Given the description of an element on the screen output the (x, y) to click on. 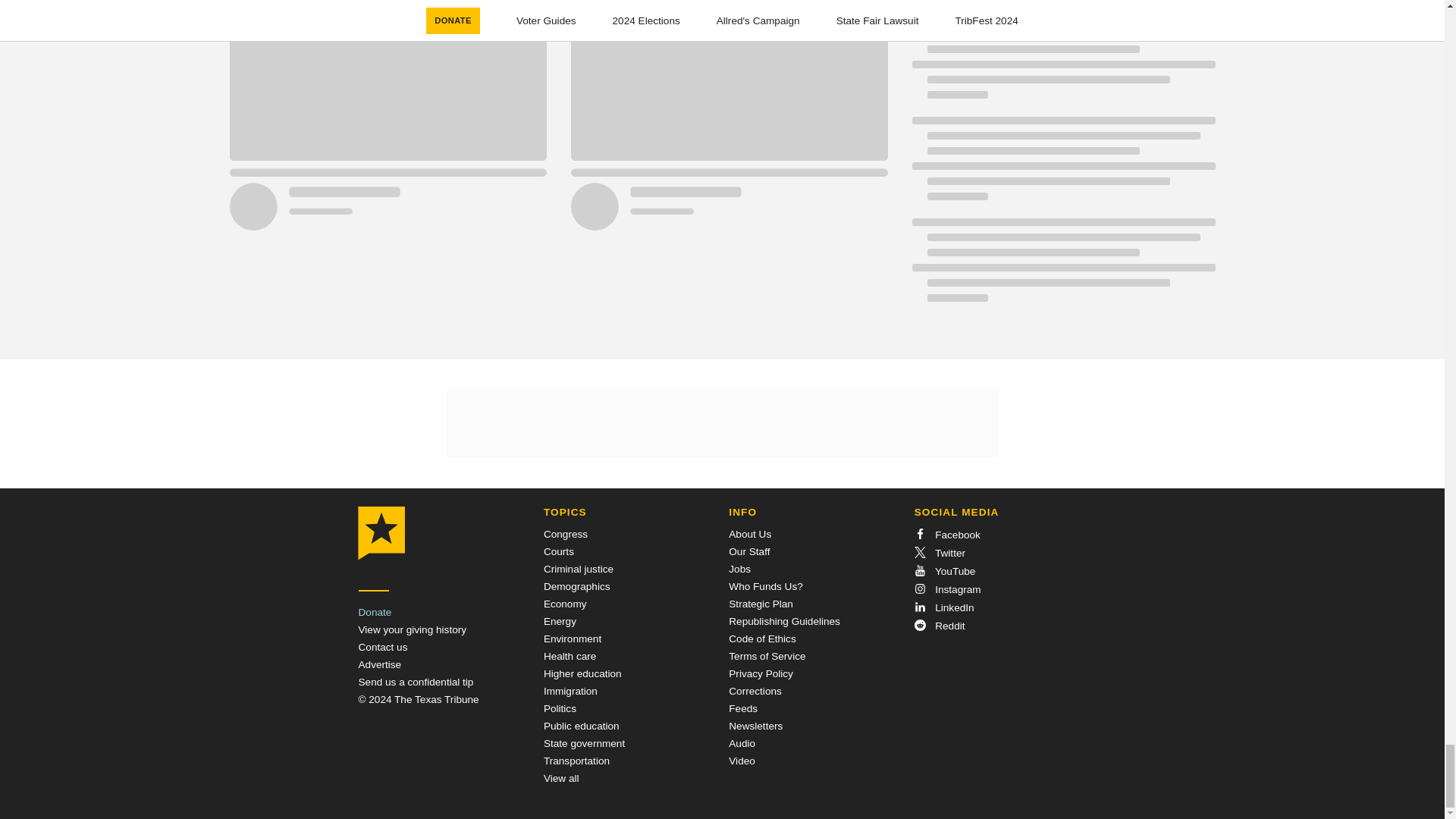
Audio (742, 743)
Who Funds Us? (765, 586)
Strategic Plan (761, 603)
Facebook (946, 534)
Loading indicator (1062, 5)
View your giving history (411, 629)
Code of Ethics (761, 638)
Video (742, 760)
Newsletters (756, 726)
Send a Tip (415, 681)
